Given the description of an element on the screen output the (x, y) to click on. 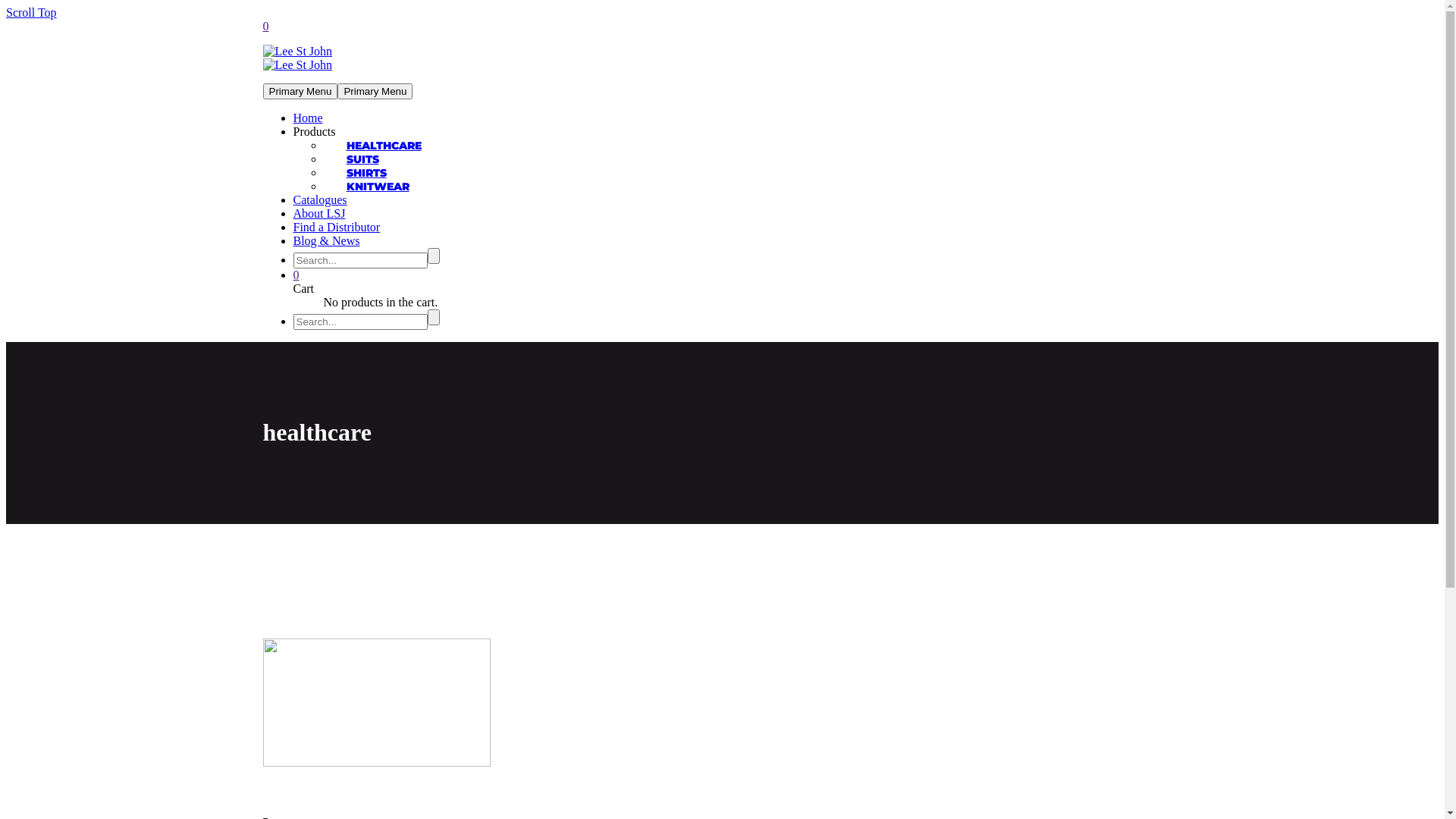
Find a Distributor Element type: text (335, 226)
Primary Menu Element type: text (299, 91)
0 Element type: text (295, 274)
Scroll Top Element type: text (31, 12)
SHIRTS Element type: text (365, 172)
Home Element type: text (307, 117)
Primary Menu Element type: text (374, 91)
Products Element type: text (313, 131)
KNITWEAR Element type: text (377, 186)
Catalogues Element type: text (319, 199)
HEALTHCARE Element type: text (383, 145)
SUITS Element type: text (362, 158)
About LSJ Element type: text (318, 213)
Blog & News Element type: text (325, 240)
0 Element type: text (265, 25)
